Given the description of an element on the screen output the (x, y) to click on. 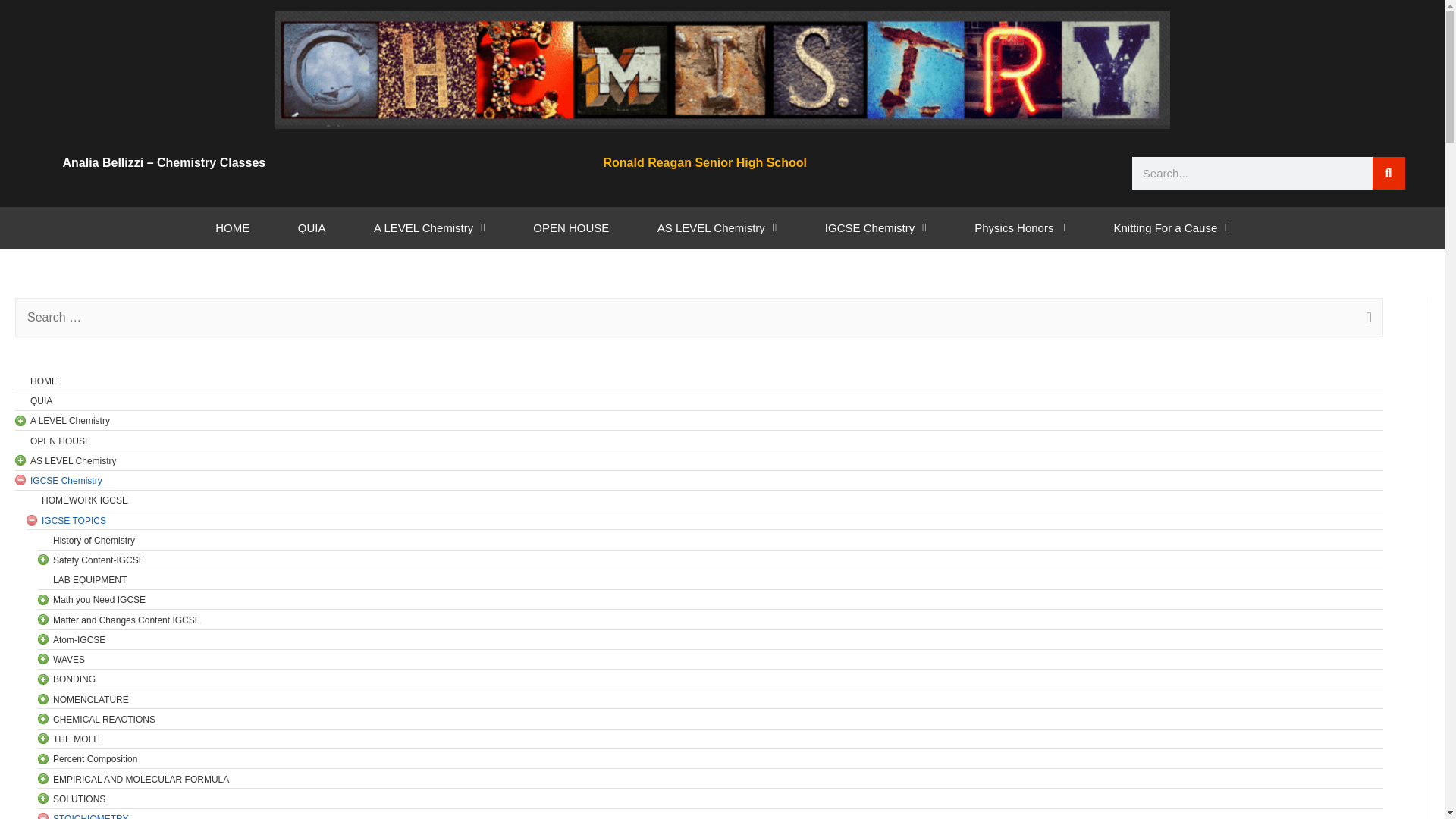
HOME (231, 228)
QUIA (311, 228)
OPEN HOUSE (570, 228)
AS LEVEL Chemistry (716, 228)
A LEVEL Chemistry (428, 228)
